Given the description of an element on the screen output the (x, y) to click on. 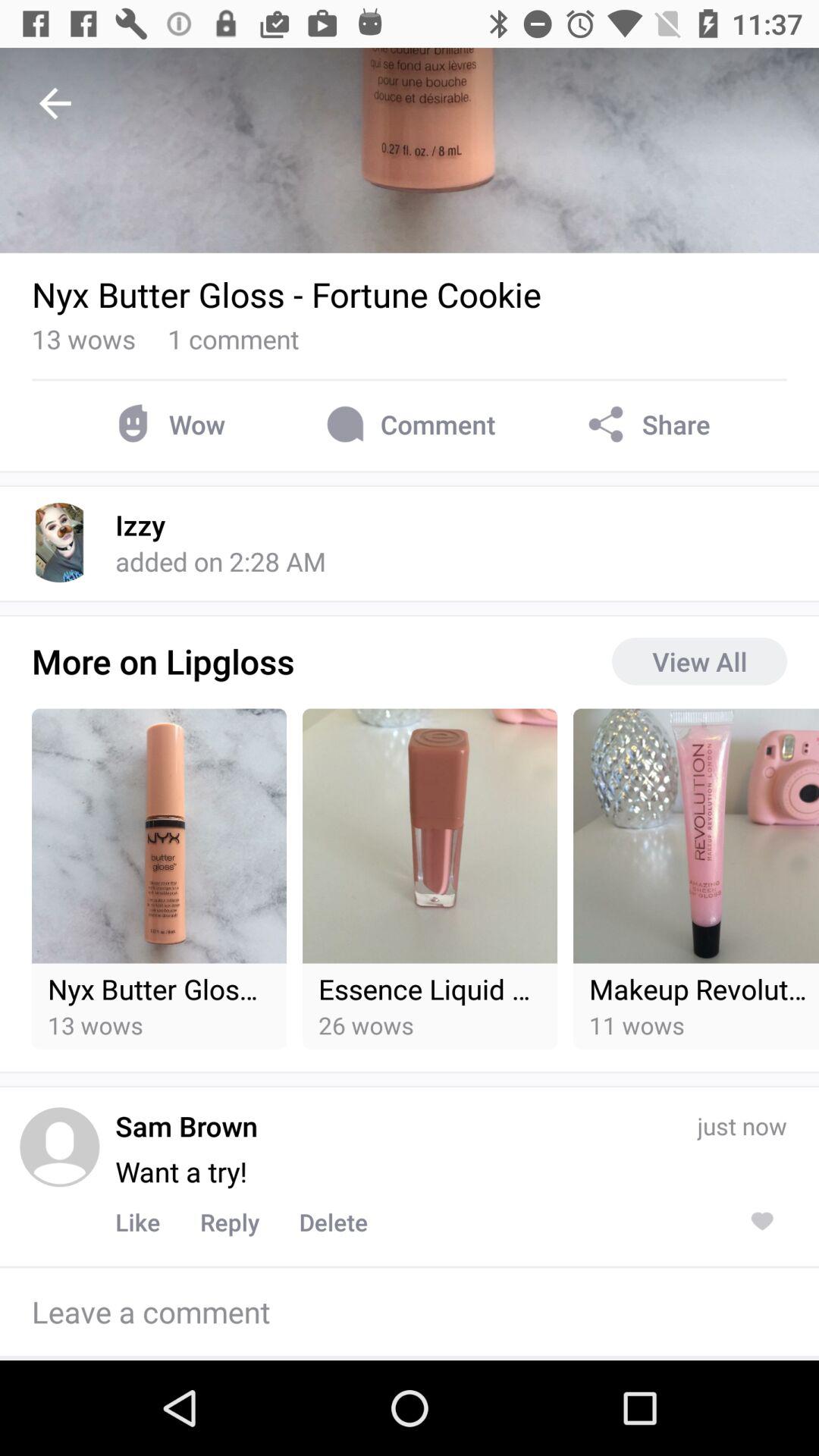
press item to the left of the just now (181, 1171)
